Given the description of an element on the screen output the (x, y) to click on. 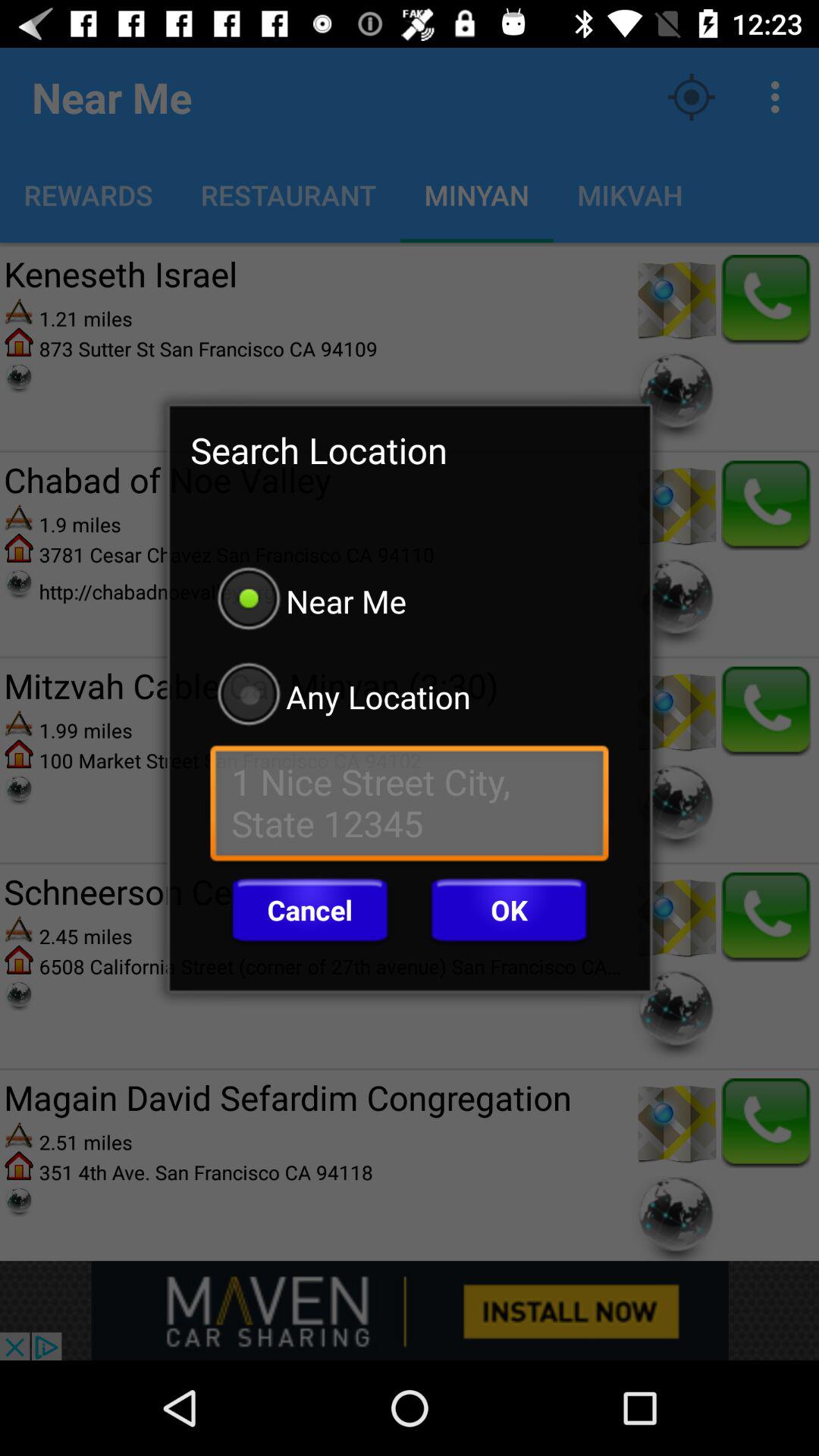
enter current location (409, 807)
